Given the description of an element on the screen output the (x, y) to click on. 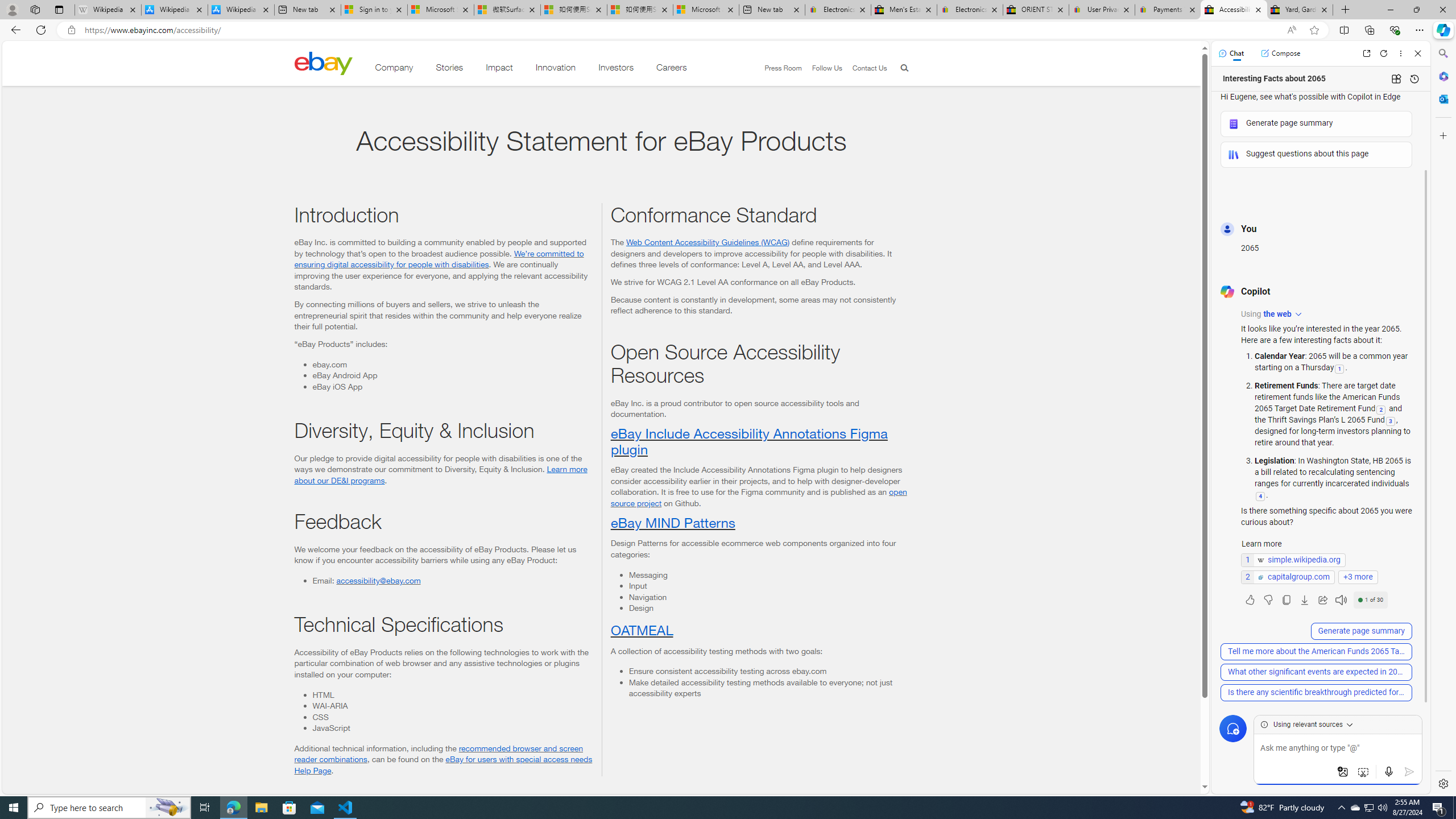
accessibility@ebay.com (378, 579)
